Given the description of an element on the screen output the (x, y) to click on. 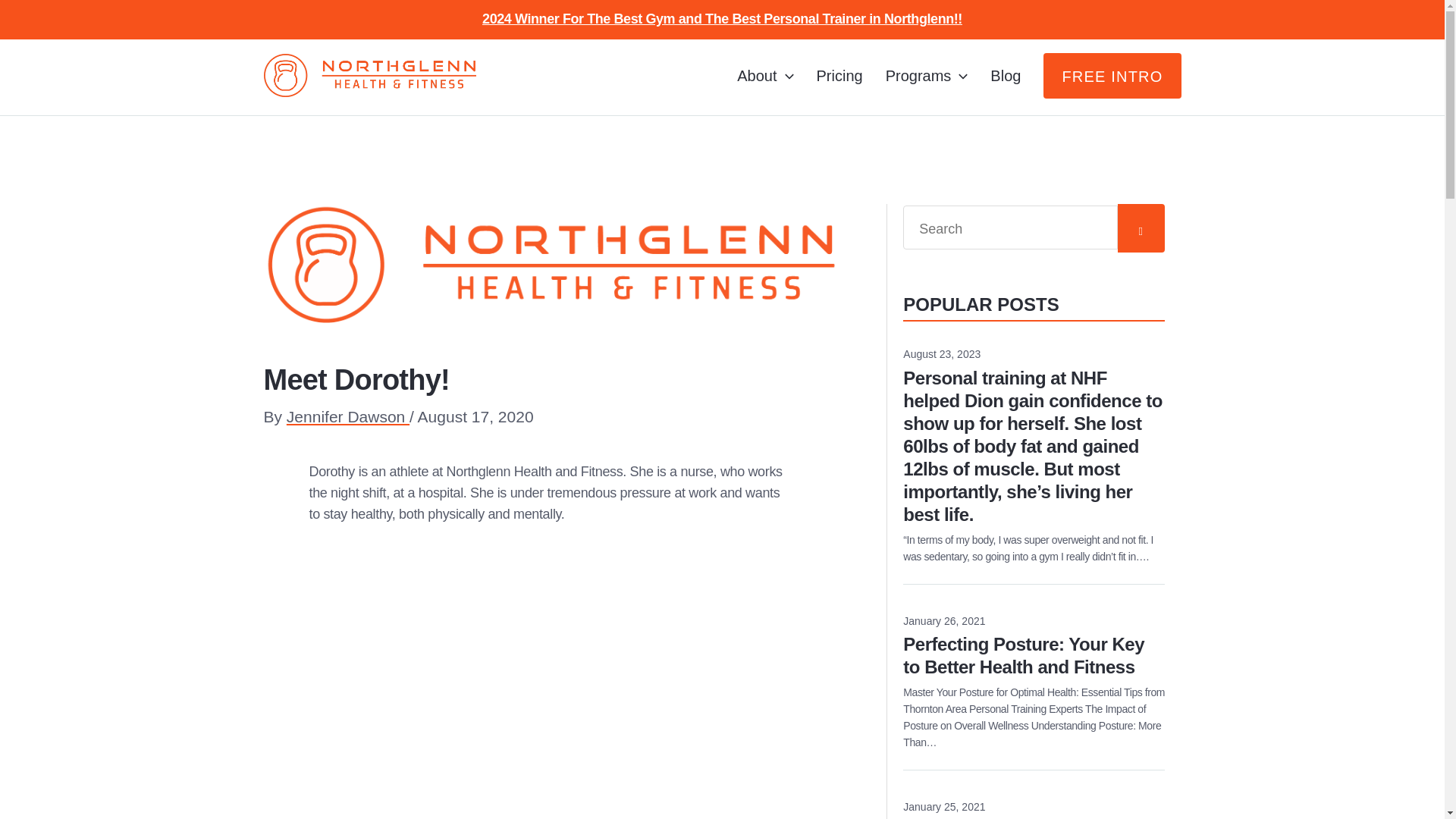
Blog (1005, 75)
Jennifer Dawson (347, 416)
Meet Dorothy (548, 672)
About (765, 75)
Pricing (840, 75)
View all posts by Jennifer Dawson (347, 416)
Programs (927, 75)
FREE INTRO (1111, 75)
